Given the description of an element on the screen output the (x, y) to click on. 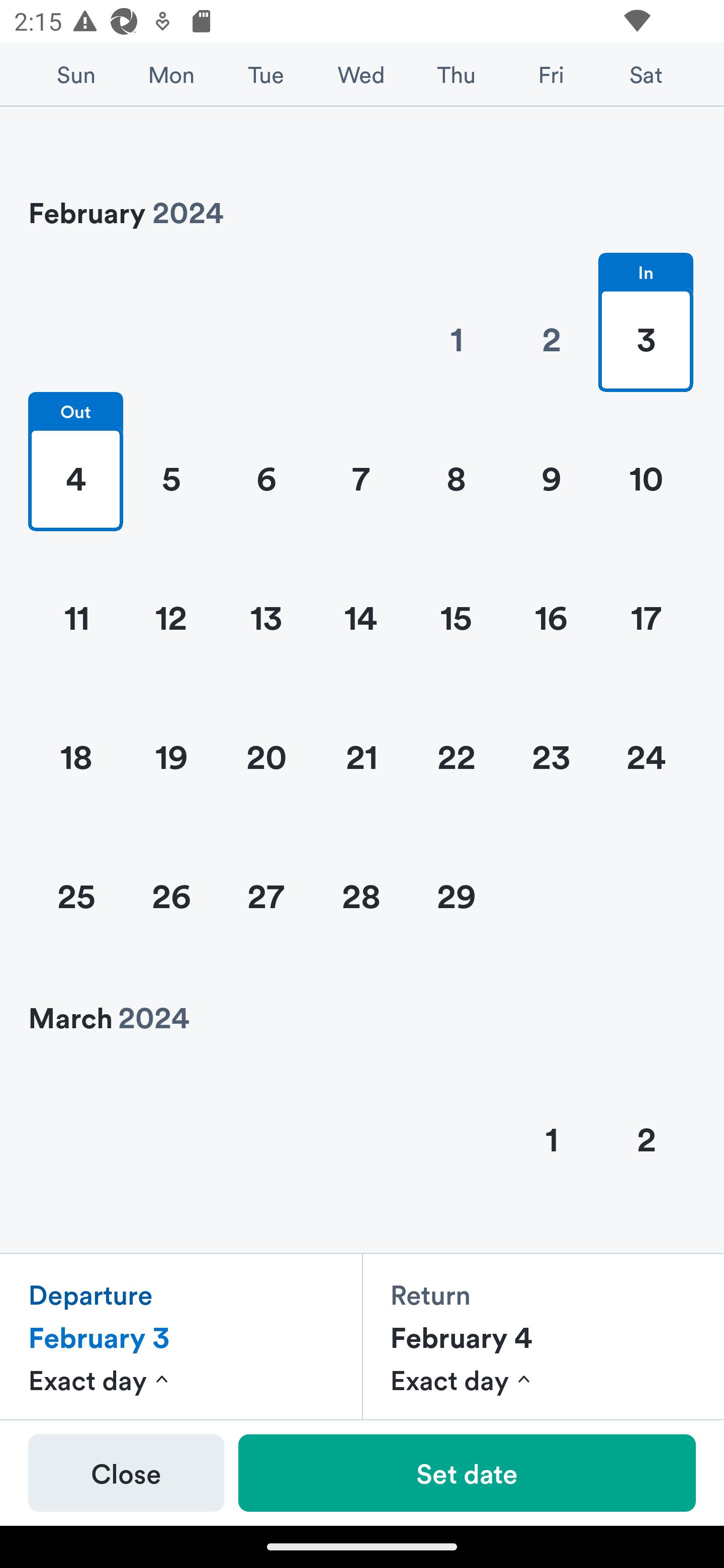
Close (126, 1472)
Set date (466, 1472)
